Given the description of an element on the screen output the (x, y) to click on. 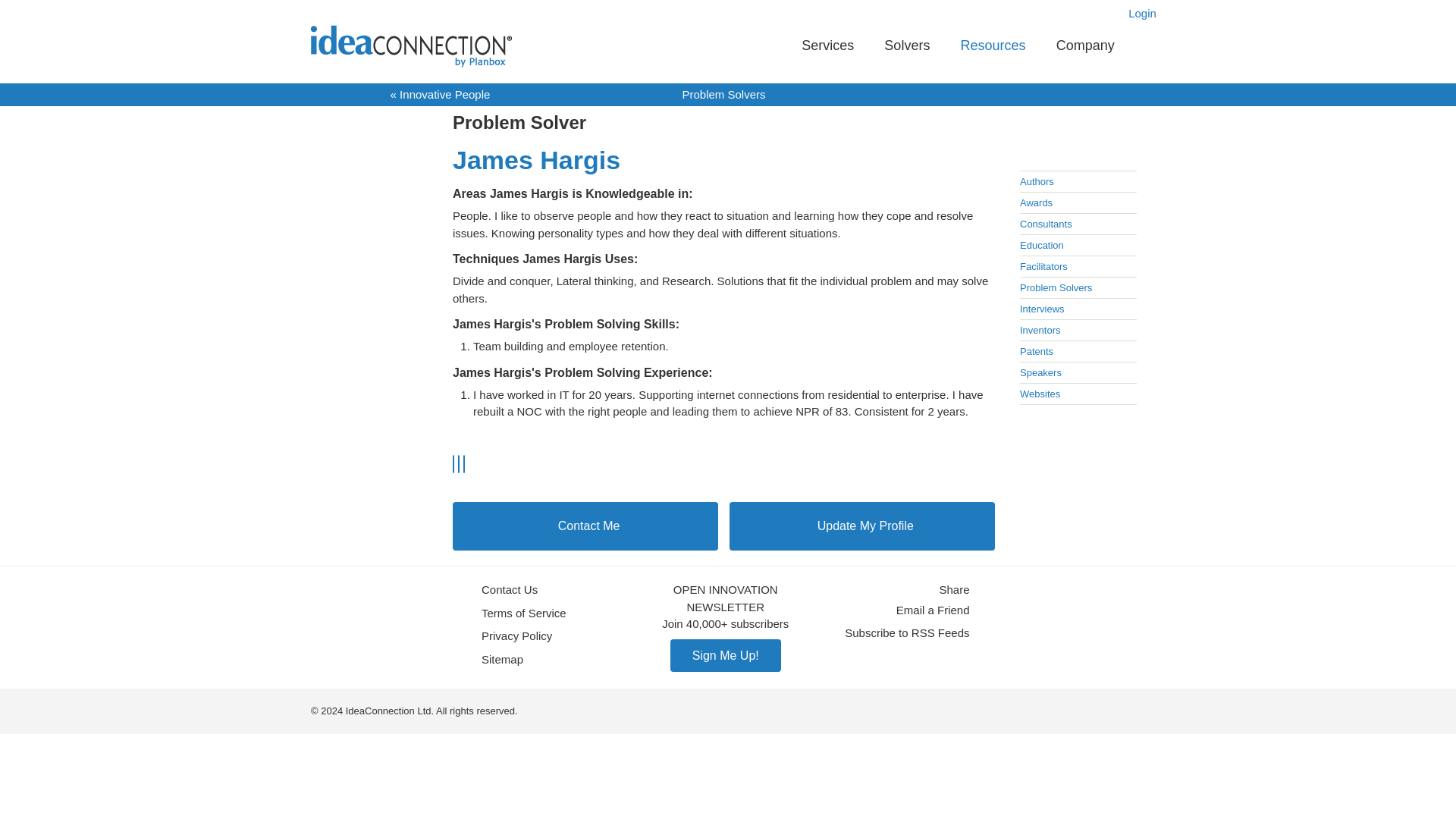
James Hargis (723, 159)
Problem Solvers (1056, 287)
Interviews (1042, 308)
Terms of Service (523, 613)
Speakers (1040, 372)
Facilitators (1043, 266)
  Update My Profile (861, 526)
Inventors (1039, 329)
Authors (1037, 181)
Consultants (1045, 224)
Privacy Policy (516, 636)
Patents (1036, 351)
Email a Friend (932, 610)
Subscribe to RSS Feeds (906, 633)
Problem Solvers (723, 93)
